Given the description of an element on the screen output the (x, y) to click on. 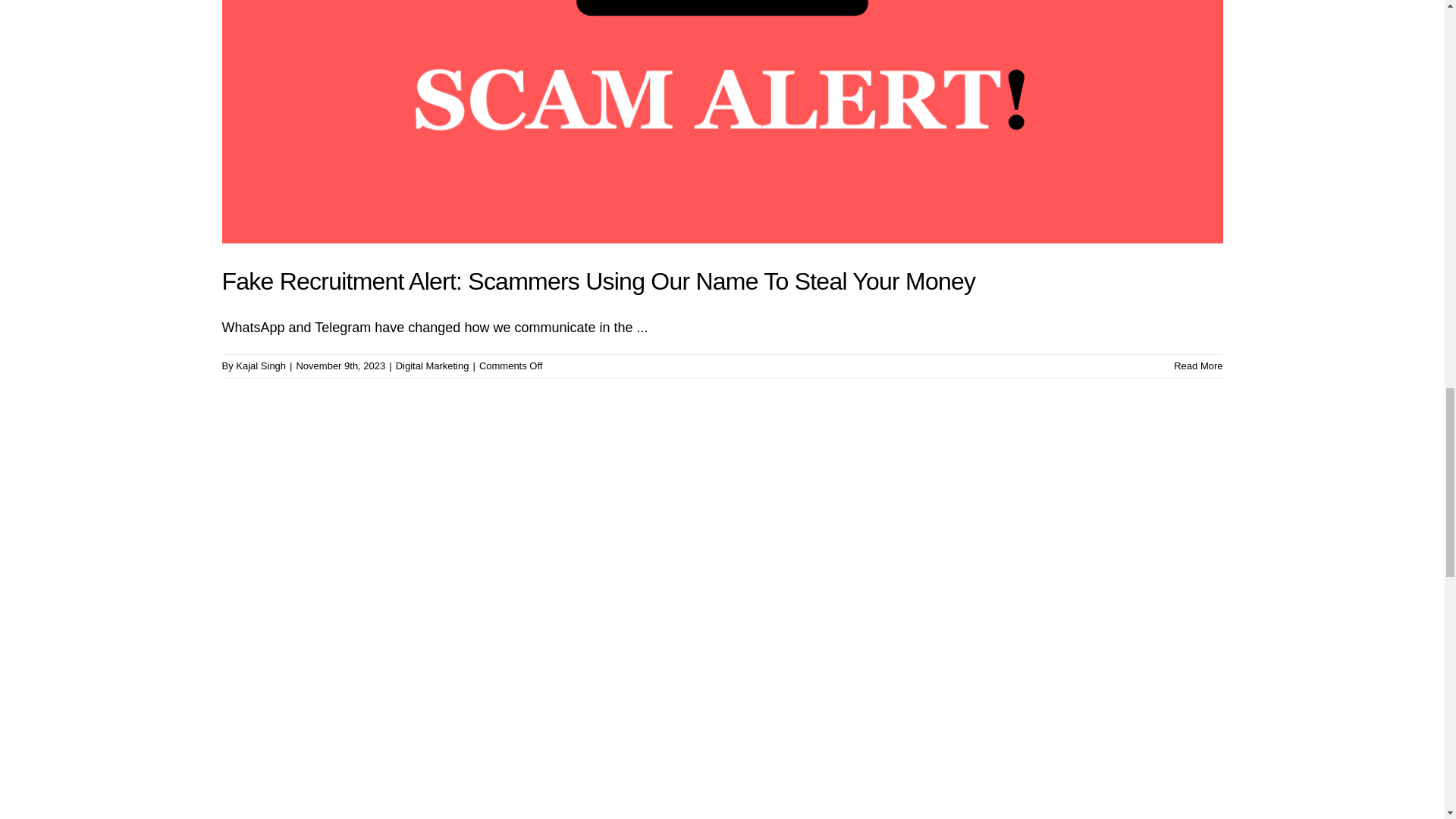
Posts by Kajal Singh (260, 365)
